Given the description of an element on the screen output the (x, y) to click on. 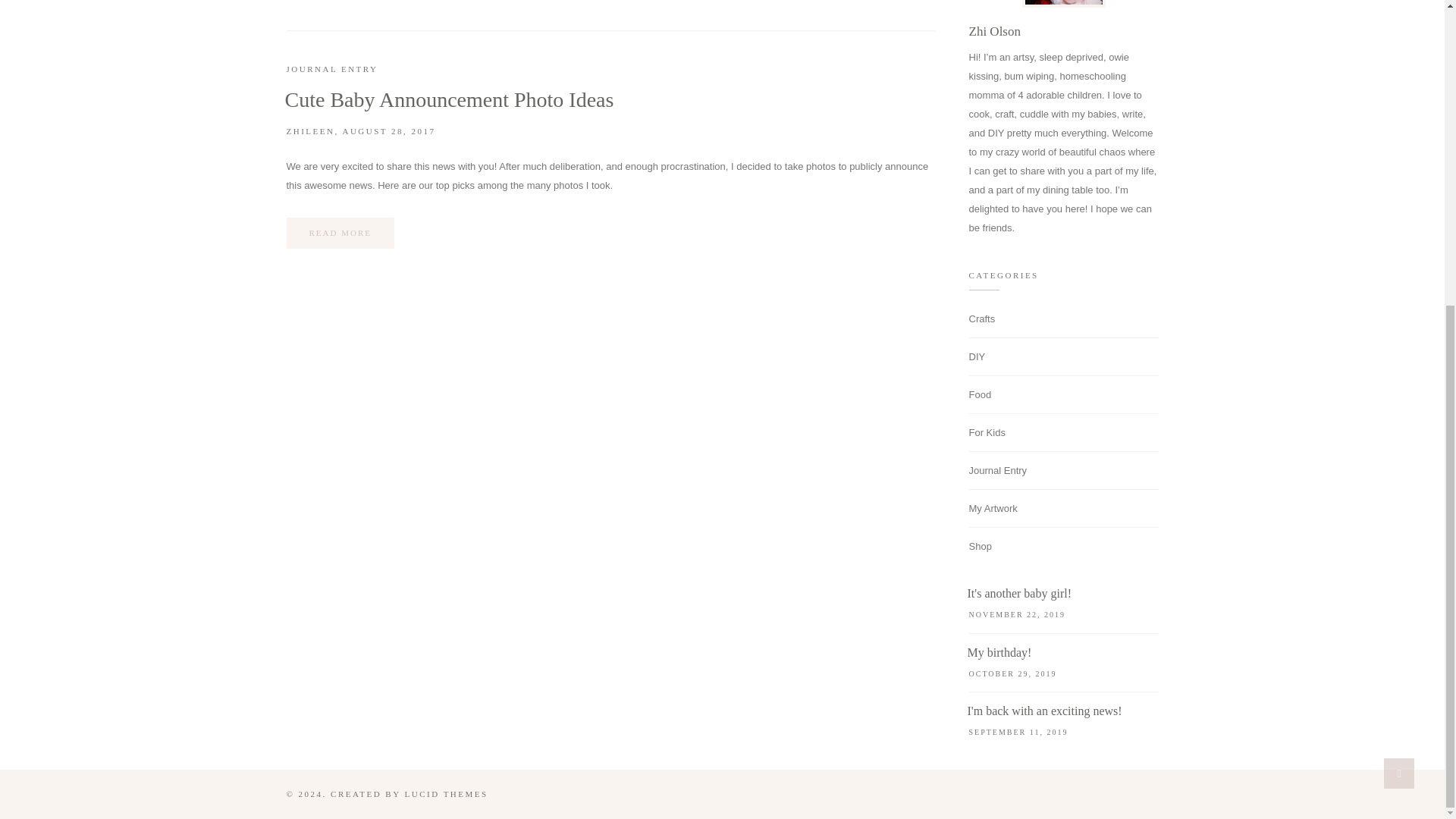
Food (980, 394)
For Kids (987, 432)
It's another baby girl! (1019, 592)
My birthday! (1000, 651)
Cute Baby Announcement Photo Ideas (449, 99)
Zhi Olson (994, 31)
LUCID THEMES (445, 793)
Journal Entry (998, 470)
I'm back with an exciting news! (1045, 710)
Shop (980, 546)
READ MORE (340, 232)
Crafts (982, 318)
JOURNAL ENTRY (332, 69)
ZHILEEN (310, 130)
My Artwork (993, 507)
